Given the description of an element on the screen output the (x, y) to click on. 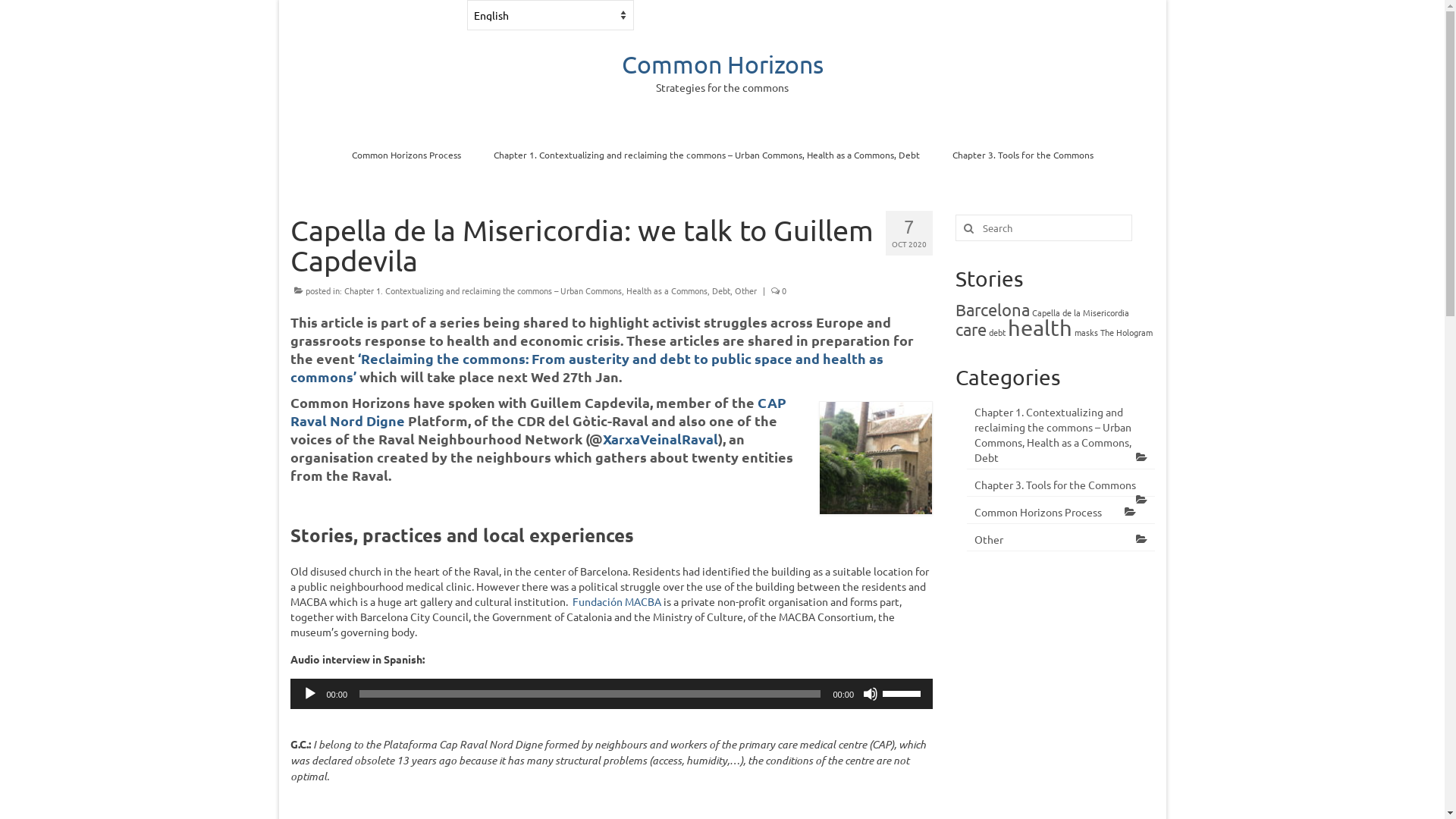
health Element type: text (1039, 327)
Common Horizons Element type: text (722, 63)
XarxaVeinalRaval Element type: text (659, 438)
Play Element type: hover (308, 693)
CAP Raval Nord Digne Element type: text (537, 411)
Common Horizons Process Element type: text (406, 154)
The Hologram Element type: text (1126, 332)
debt Element type: text (996, 332)
Chapter 3. Tools for the Commons Element type: text (1060, 484)
Other Element type: text (745, 290)
Barcelona Element type: text (992, 309)
masks Element type: text (1086, 332)
Mute Element type: hover (870, 693)
Other Element type: text (1060, 539)
care Element type: text (970, 328)
Chapter 3. Tools for the Commons Element type: text (1022, 154)
Capella de la Misericordia Element type: text (1080, 312)
Use Up/Down Arrow keys to increase or decrease volume. Element type: text (903, 692)
Common Horizons Process Element type: text (1060, 512)
